Given the description of an element on the screen output the (x, y) to click on. 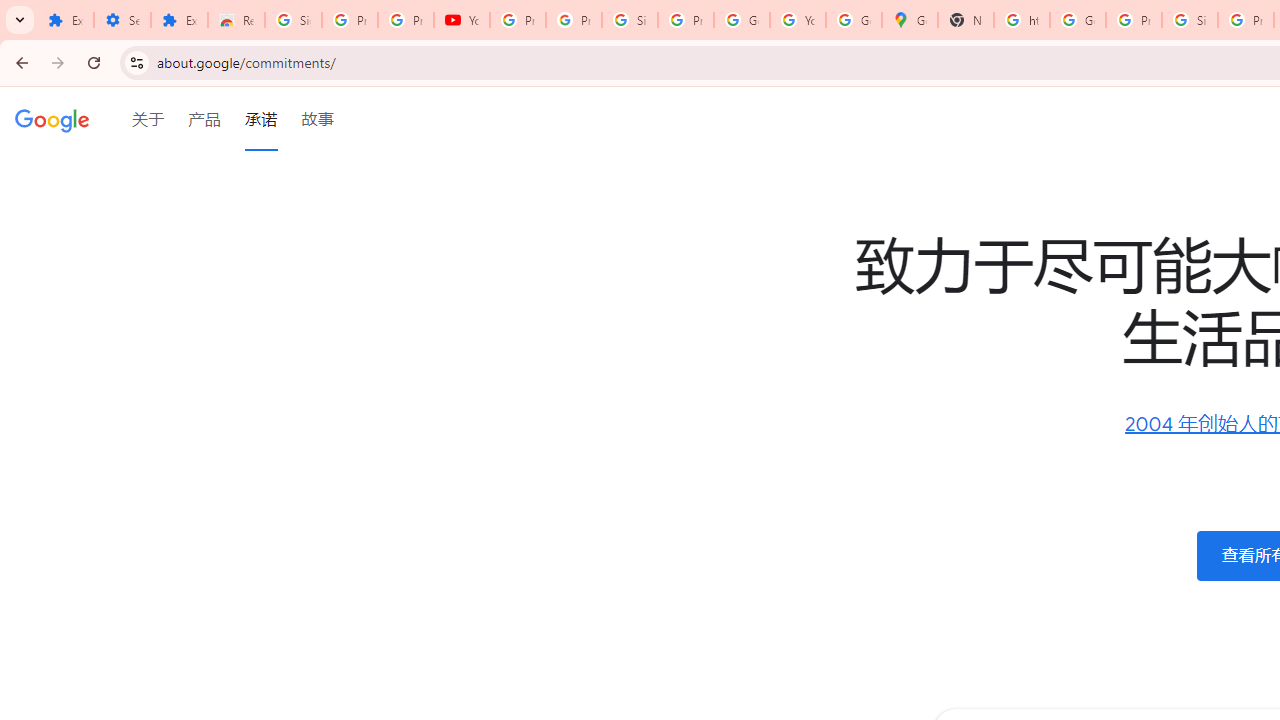
Google (52, 119)
